Given the description of an element on the screen output the (x, y) to click on. 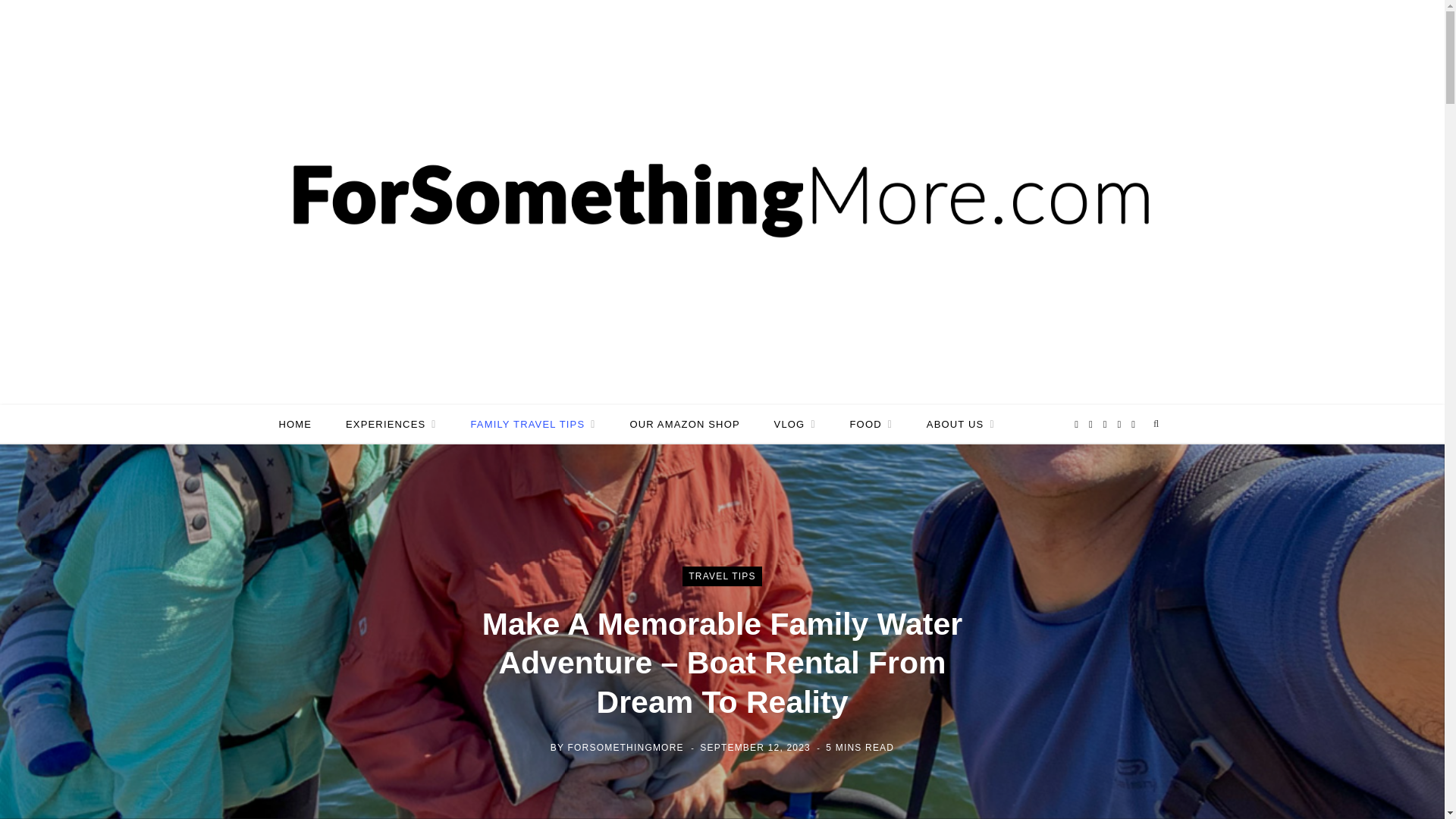
Posts by ForSomethingMore (625, 747)
EXPERIENCES (390, 423)
HOME (295, 423)
